Given the description of an element on the screen output the (x, y) to click on. 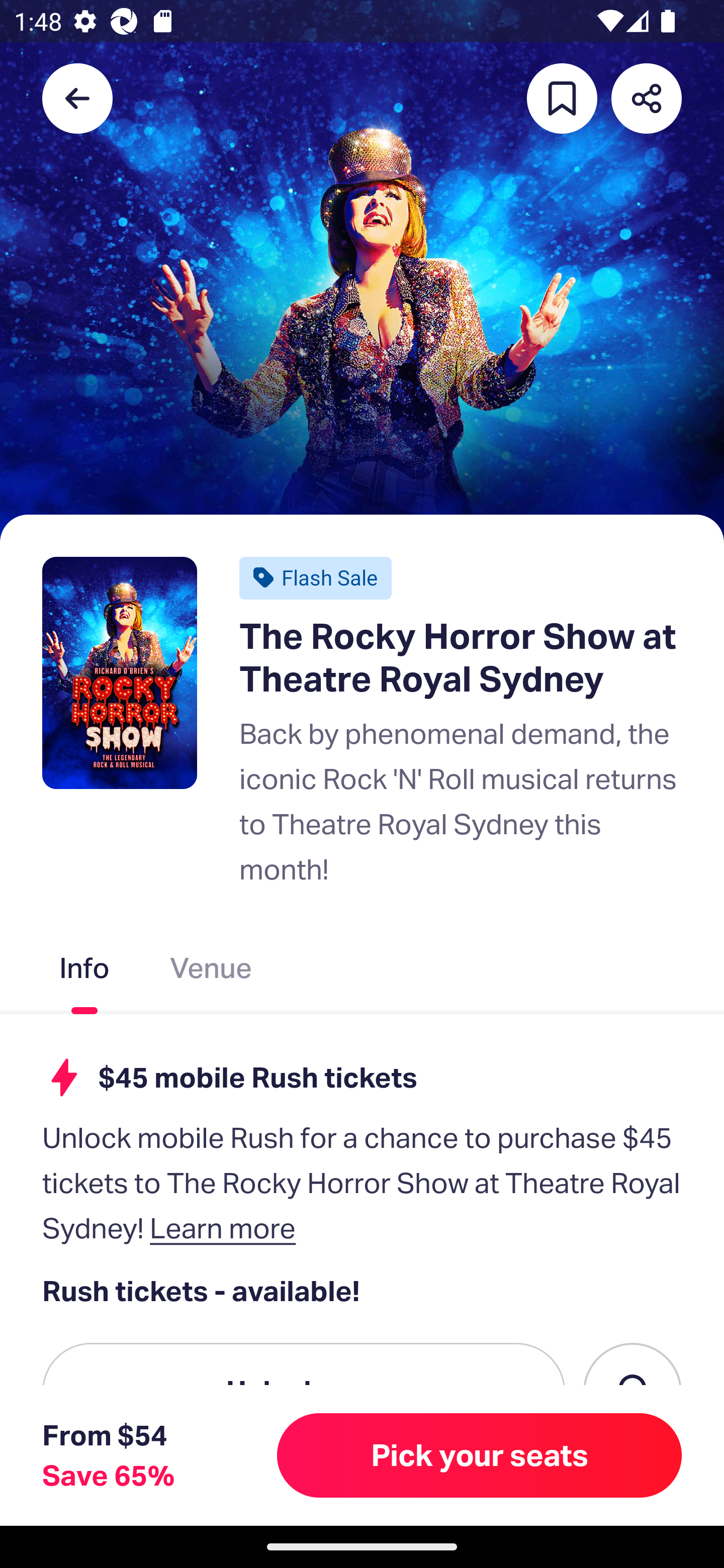
Venue (210, 971)
Pick your seats (479, 1454)
